Given the description of an element on the screen output the (x, y) to click on. 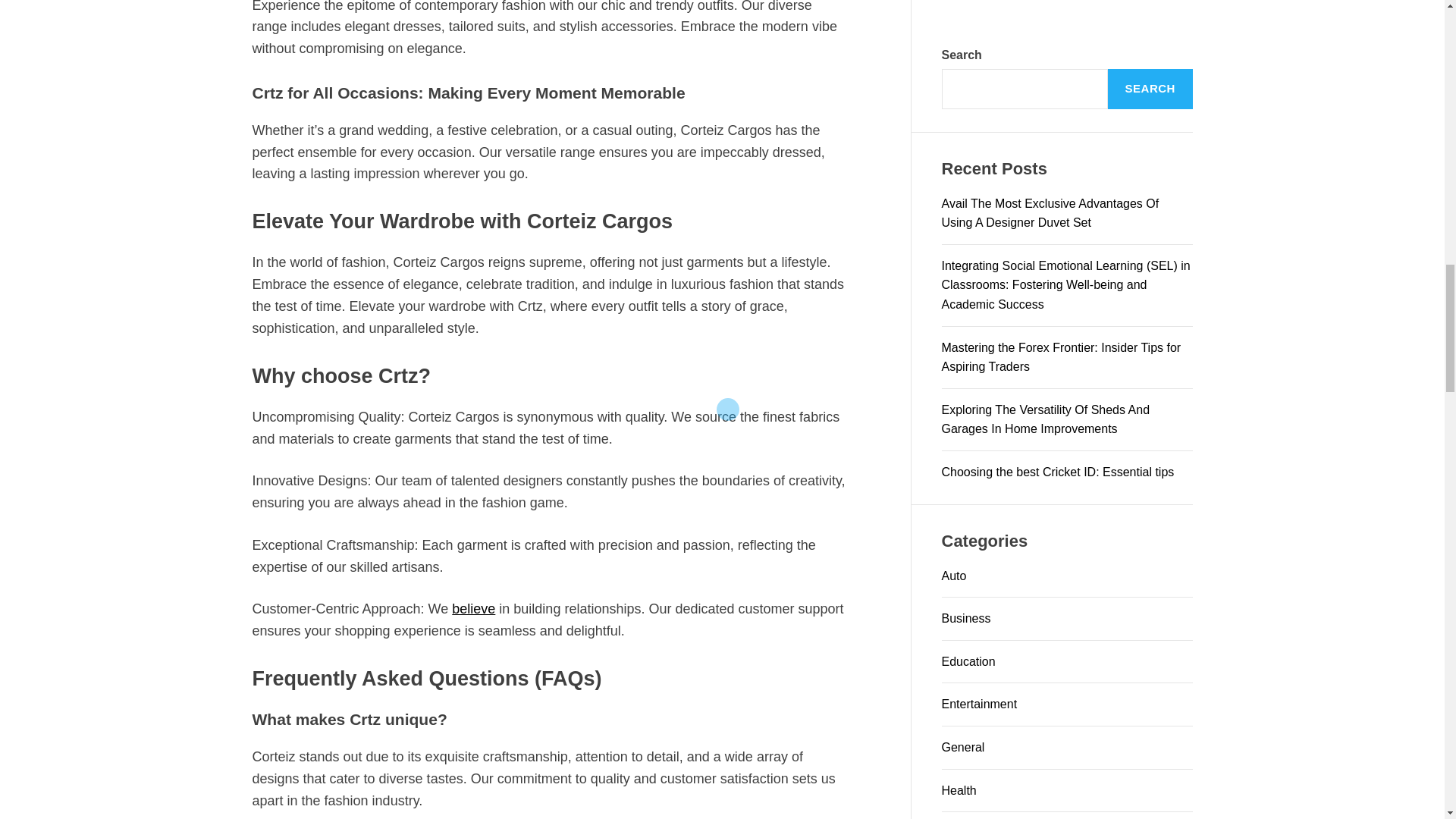
believe (473, 608)
